Given the description of an element on the screen output the (x, y) to click on. 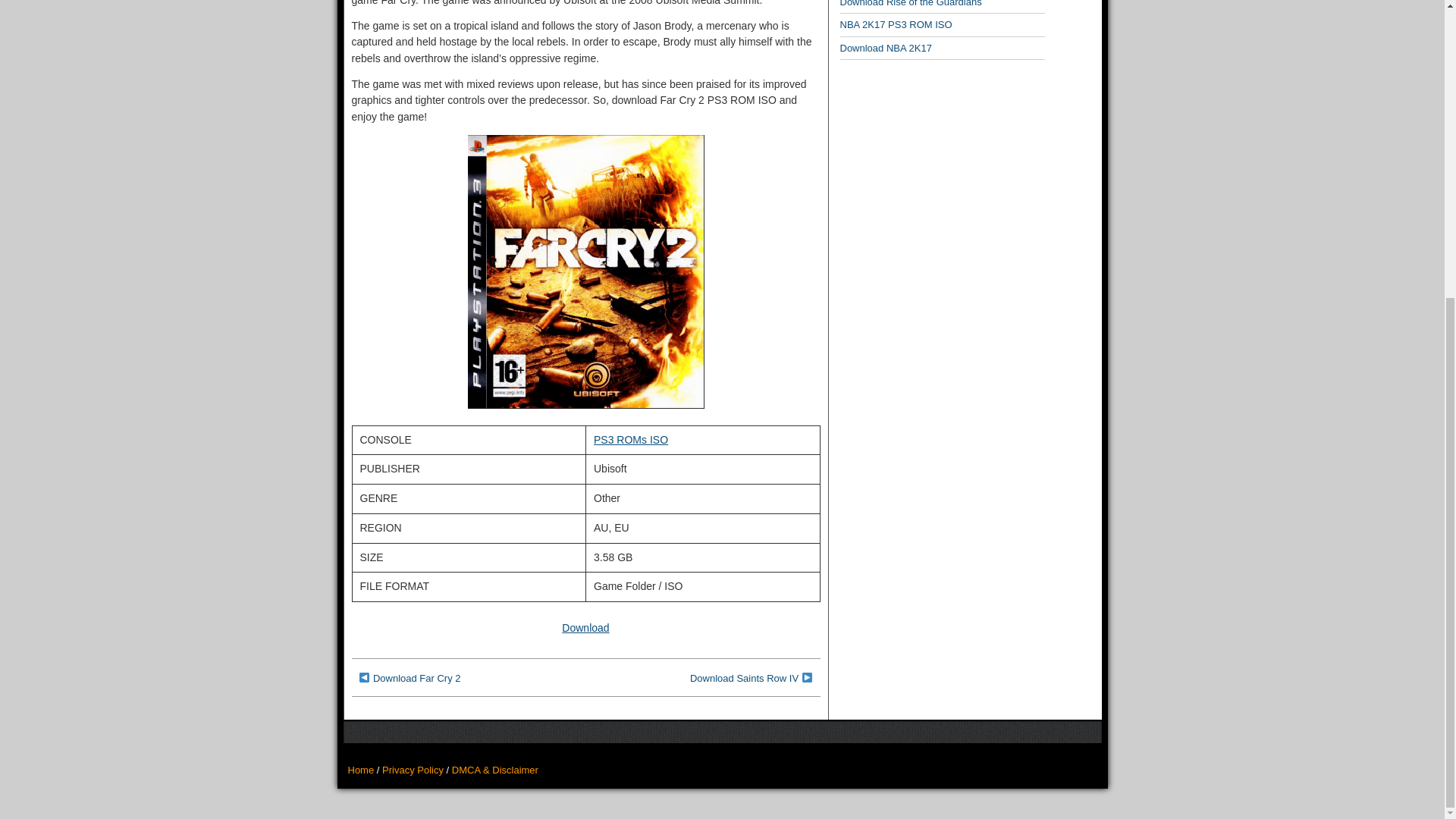
Home (360, 769)
Download (585, 627)
Download NBA 2K17 (885, 48)
Download Rise of the Guardians (910, 3)
Privacy Policy (412, 769)
NBA 2K17 PS3 ROM ISO (896, 24)
Download Far Cry 2 (416, 677)
PS3 ROMs ISO (631, 439)
Download Saints Row IV (743, 677)
